Given the description of an element on the screen output the (x, y) to click on. 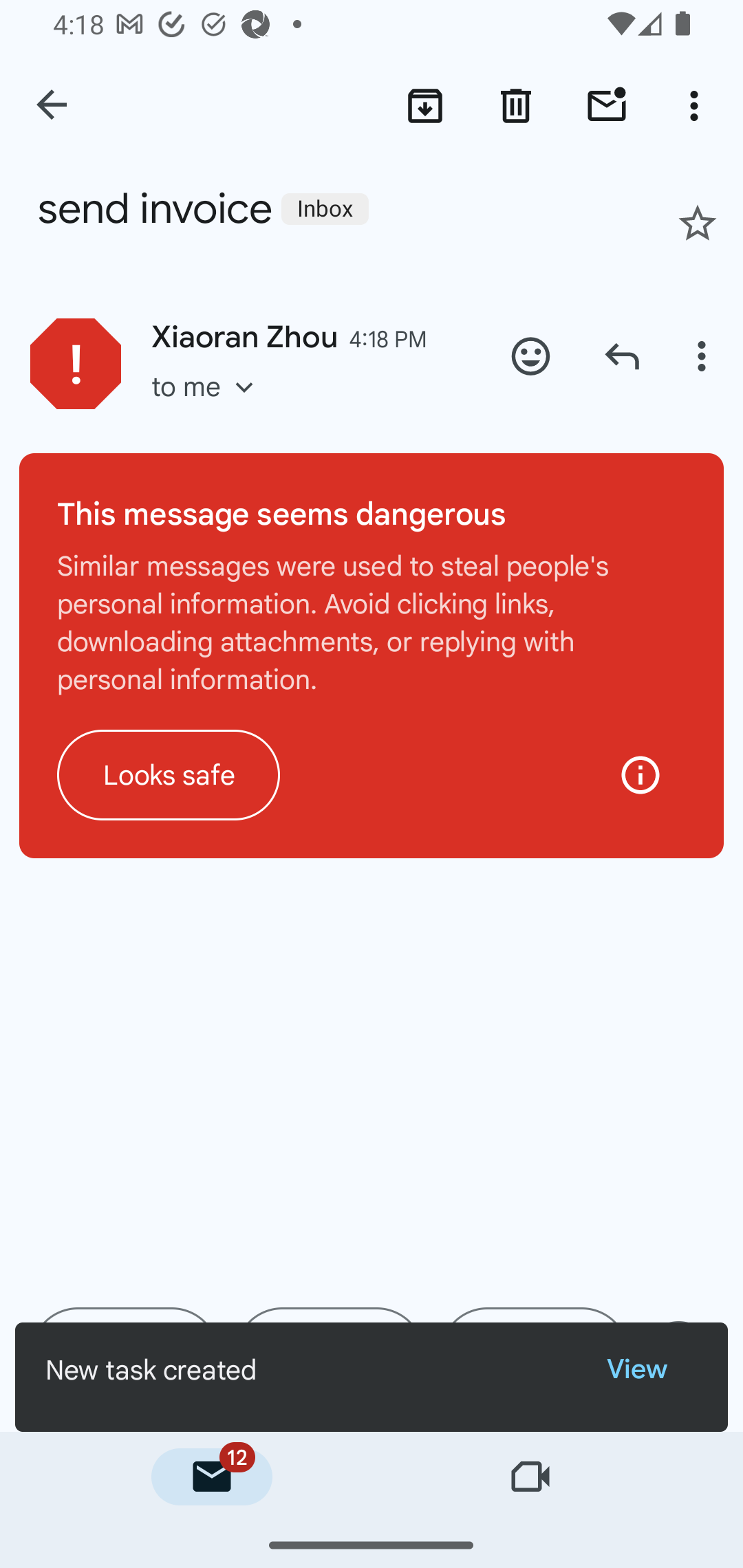
Navigate up (53, 105)
Archive (424, 105)
Delete (515, 105)
Mark unread (606, 105)
More options (697, 105)
Add star (697, 223)
Add emoji reaction (530, 355)
Reply (621, 355)
More options (705, 355)
Show contact information for Xiaoran Zhou (75, 363)
to me (208, 405)
Looks safe (168, 774)
More information (640, 774)
View (652, 1369)
Meet (530, 1476)
